Given the description of an element on the screen output the (x, y) to click on. 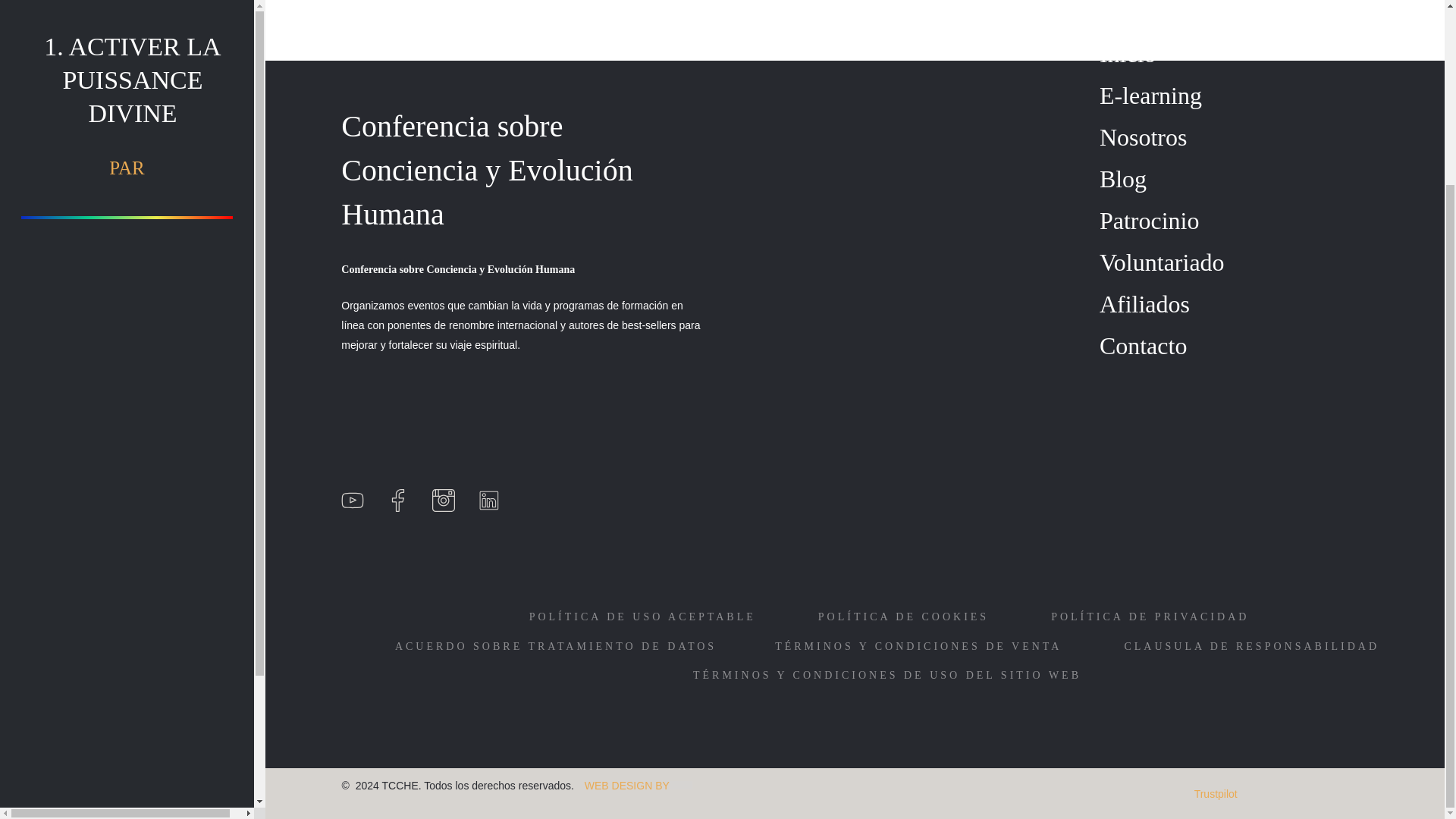
Voluntariado (1161, 262)
E-learning (1150, 94)
Patrocinio (1149, 220)
Blog (1123, 178)
Inicio (1127, 53)
Nosotros (1143, 136)
Afiliados (1144, 303)
Contacto (1143, 345)
